Given the description of an element on the screen output the (x, y) to click on. 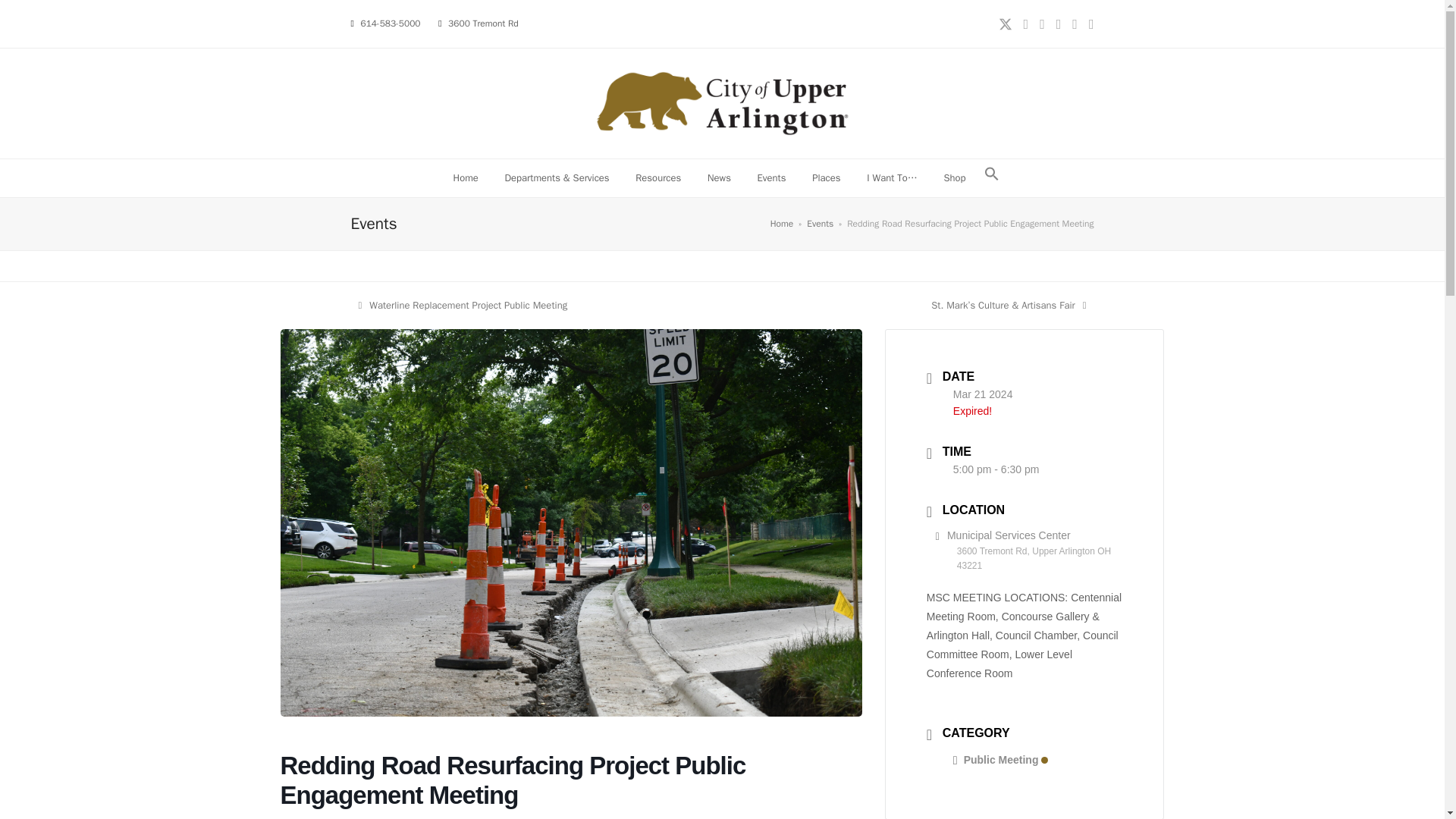
Shop (953, 177)
Resources (658, 177)
Home (781, 223)
Events (819, 223)
Public Meeting  (1000, 759)
Home (465, 177)
Events (462, 304)
Places (771, 177)
News (825, 177)
